Given the description of an element on the screen output the (x, y) to click on. 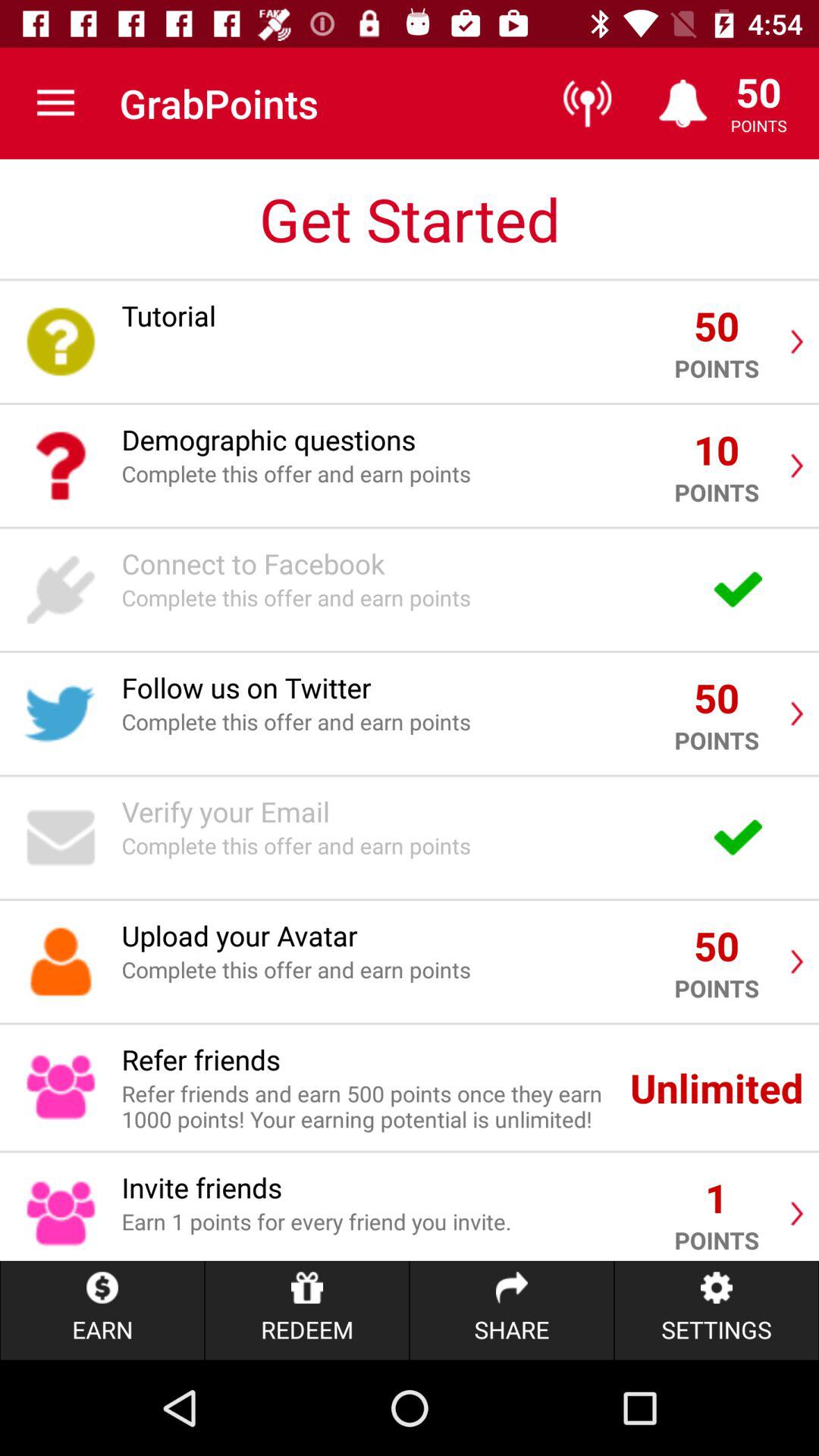
open icon next to redeem icon (511, 1310)
